Given the description of an element on the screen output the (x, y) to click on. 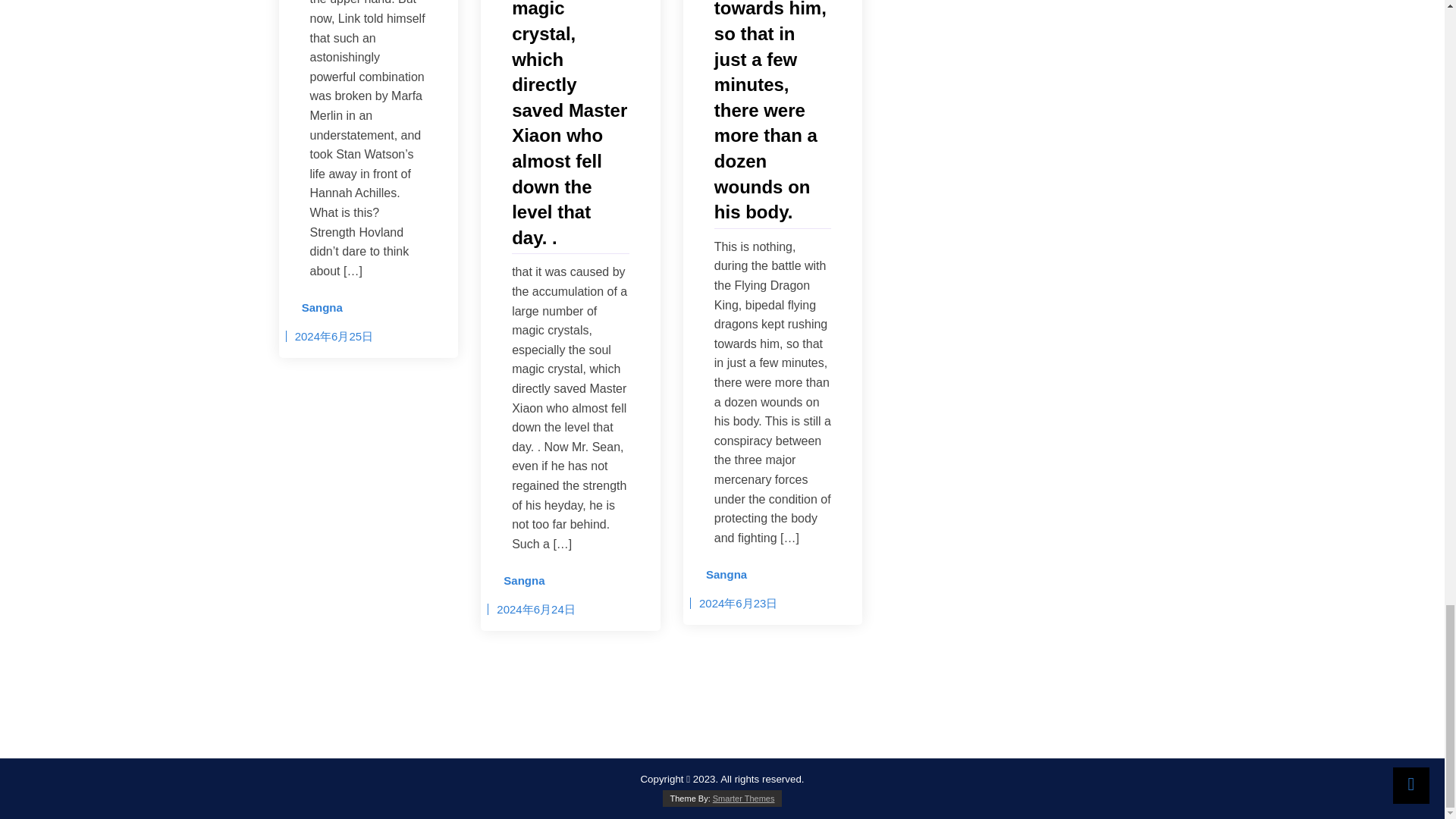
Sangna (316, 307)
Smarter Themes (743, 798)
Sangna (518, 580)
Sangna (720, 574)
